Given the description of an element on the screen output the (x, y) to click on. 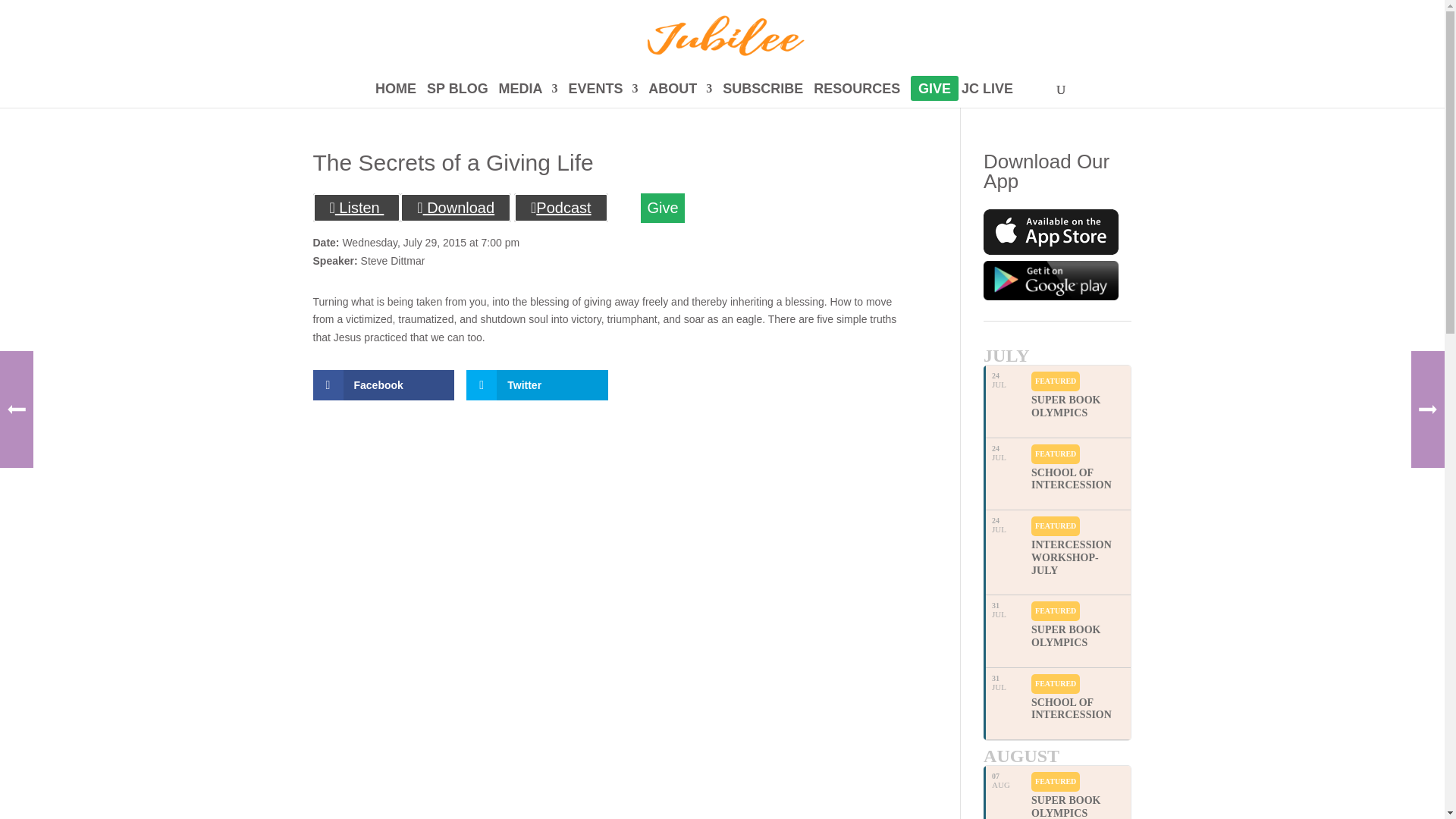
Download (455, 207)
SUBSCRIBE (762, 95)
EVENTS (602, 95)
SP BLOG (456, 95)
MEDIA (528, 95)
HOME (395, 95)
ABOUT (679, 95)
Listen (356, 207)
Podcast (560, 207)
JC LIVE (986, 95)
GIVE (934, 95)
RESOURCES (856, 95)
